Given the description of an element on the screen output the (x, y) to click on. 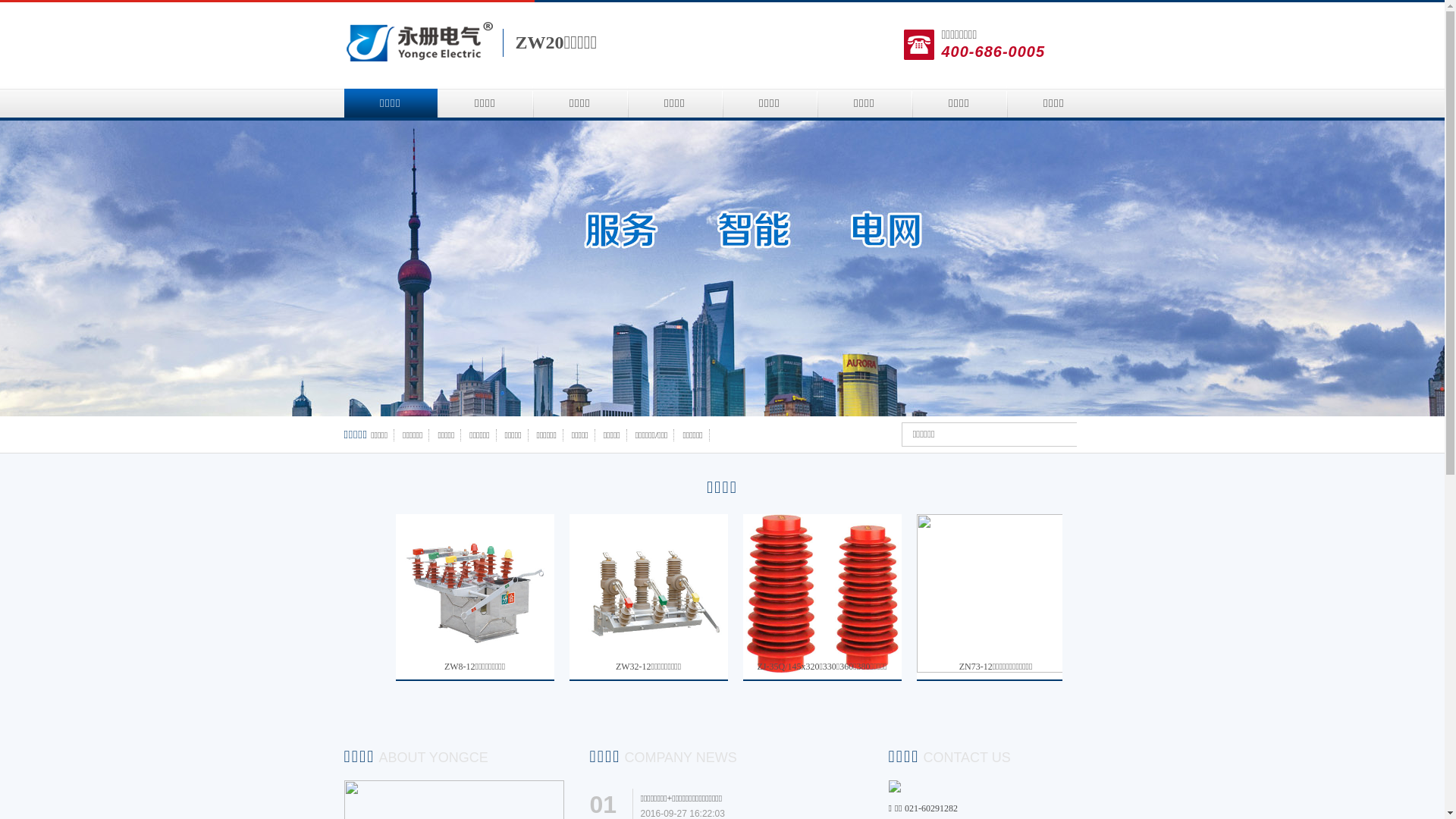
next Element type: text (1429, 268)
prev Element type: text (14, 268)
